Given the description of an element on the screen output the (x, y) to click on. 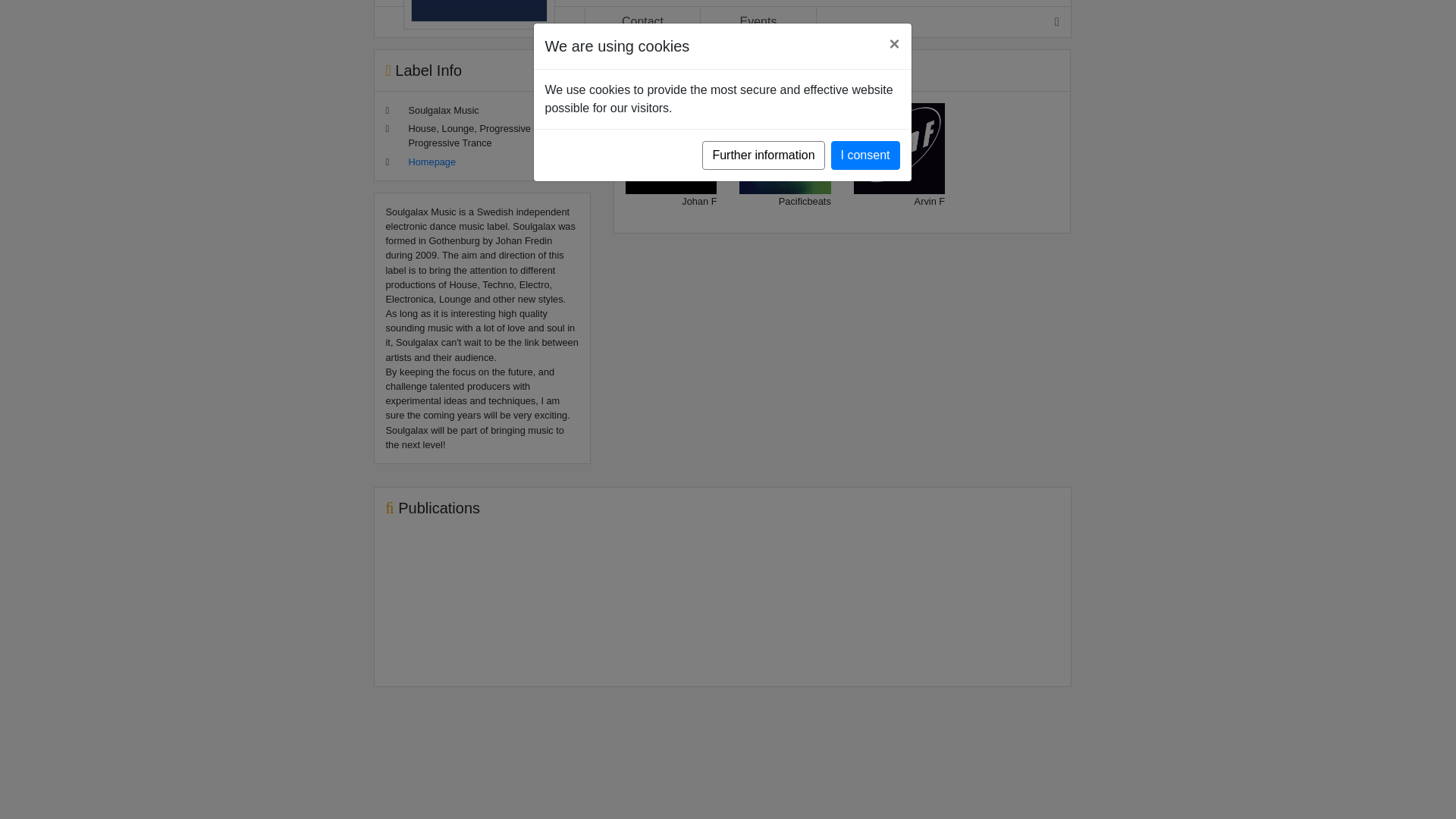
Homepage (431, 161)
Events (758, 21)
Contact (642, 21)
